Given the description of an element on the screen output the (x, y) to click on. 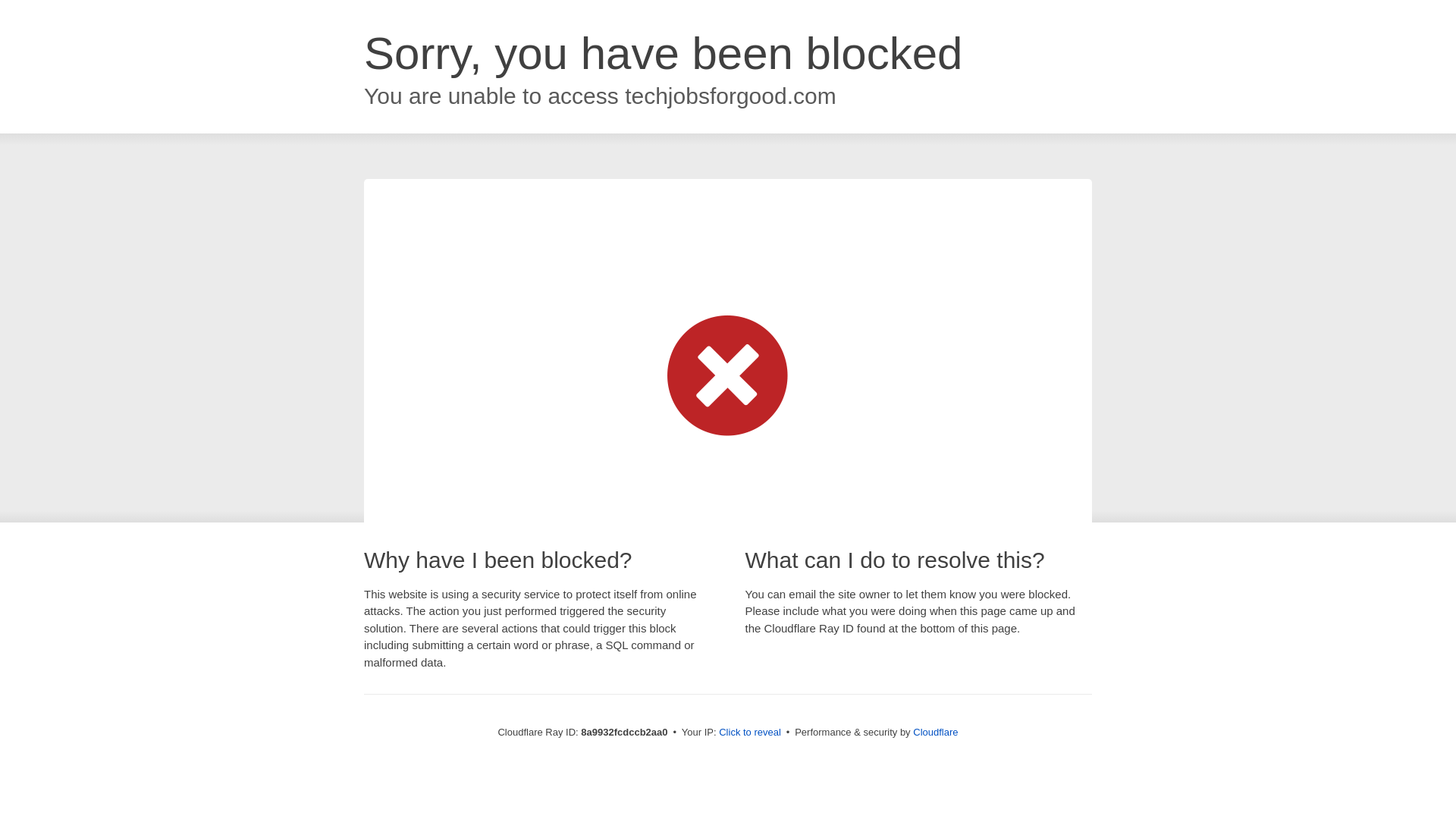
Cloudflare (935, 731)
Click to reveal (749, 732)
